Given the description of an element on the screen output the (x, y) to click on. 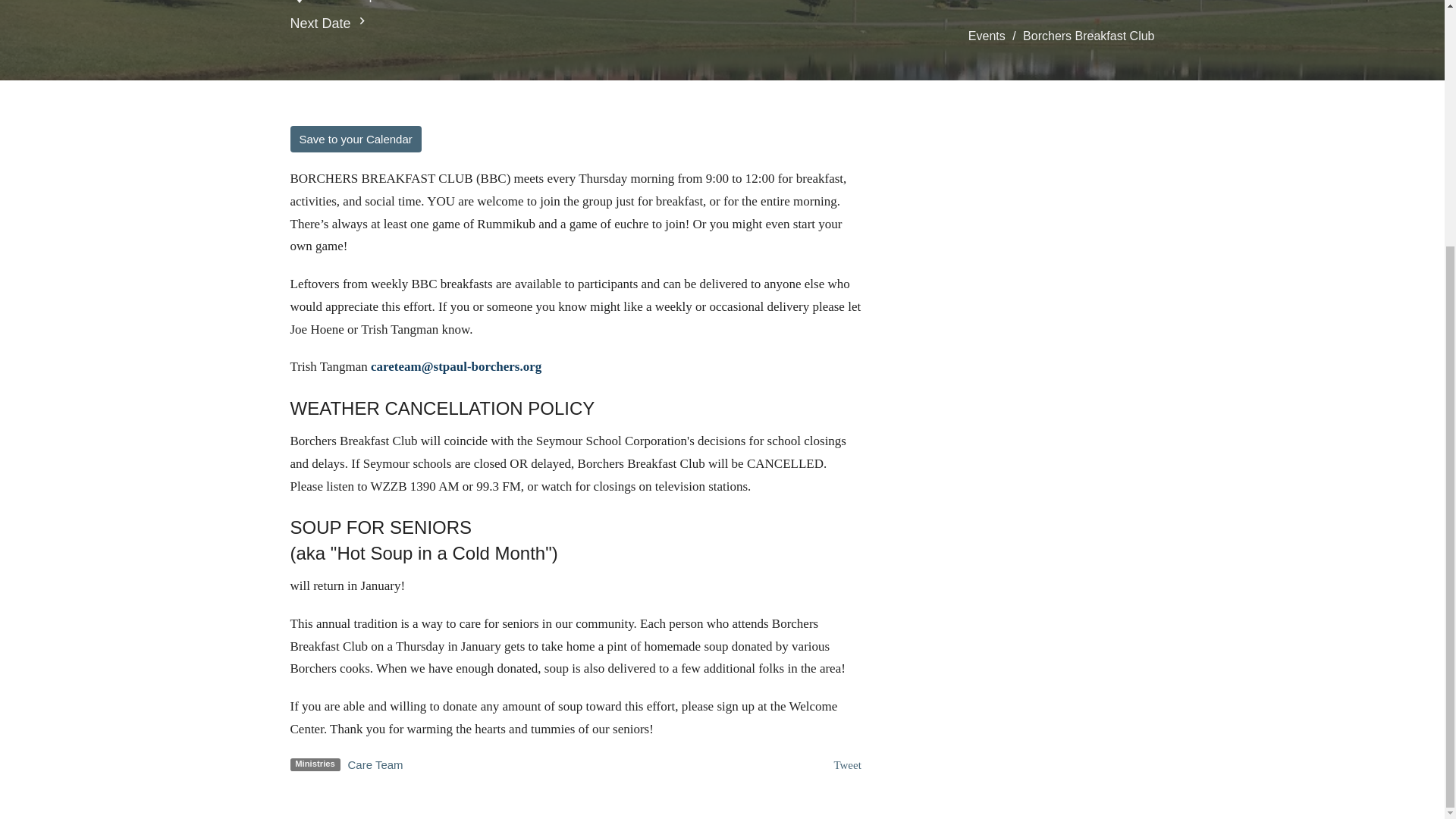
Save to your Calendar (354, 139)
Events (987, 35)
Next Date (328, 23)
Care Team (375, 764)
Tweet (846, 765)
